Given the description of an element on the screen output the (x, y) to click on. 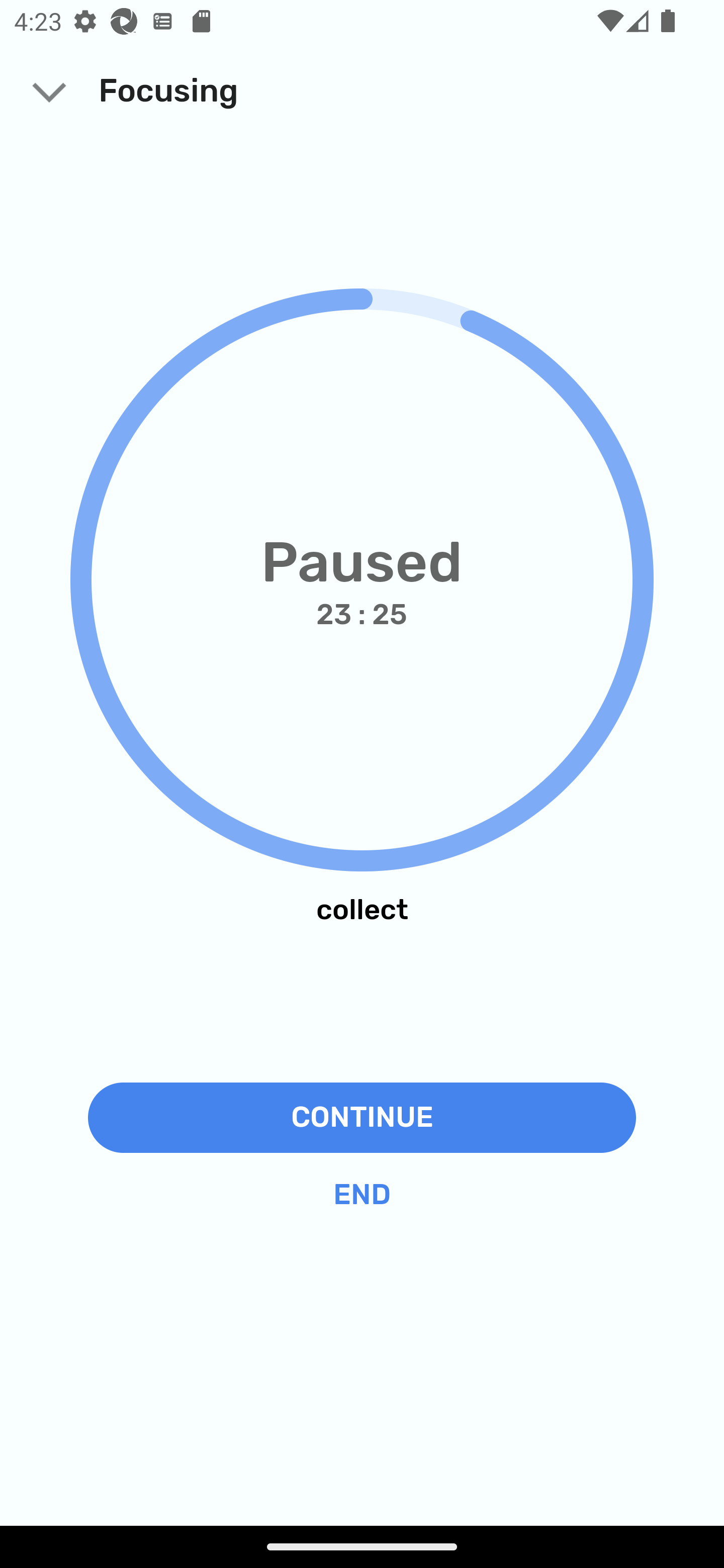
CONTINUE (361, 1116)
END (361, 1195)
